Given the description of an element on the screen output the (x, y) to click on. 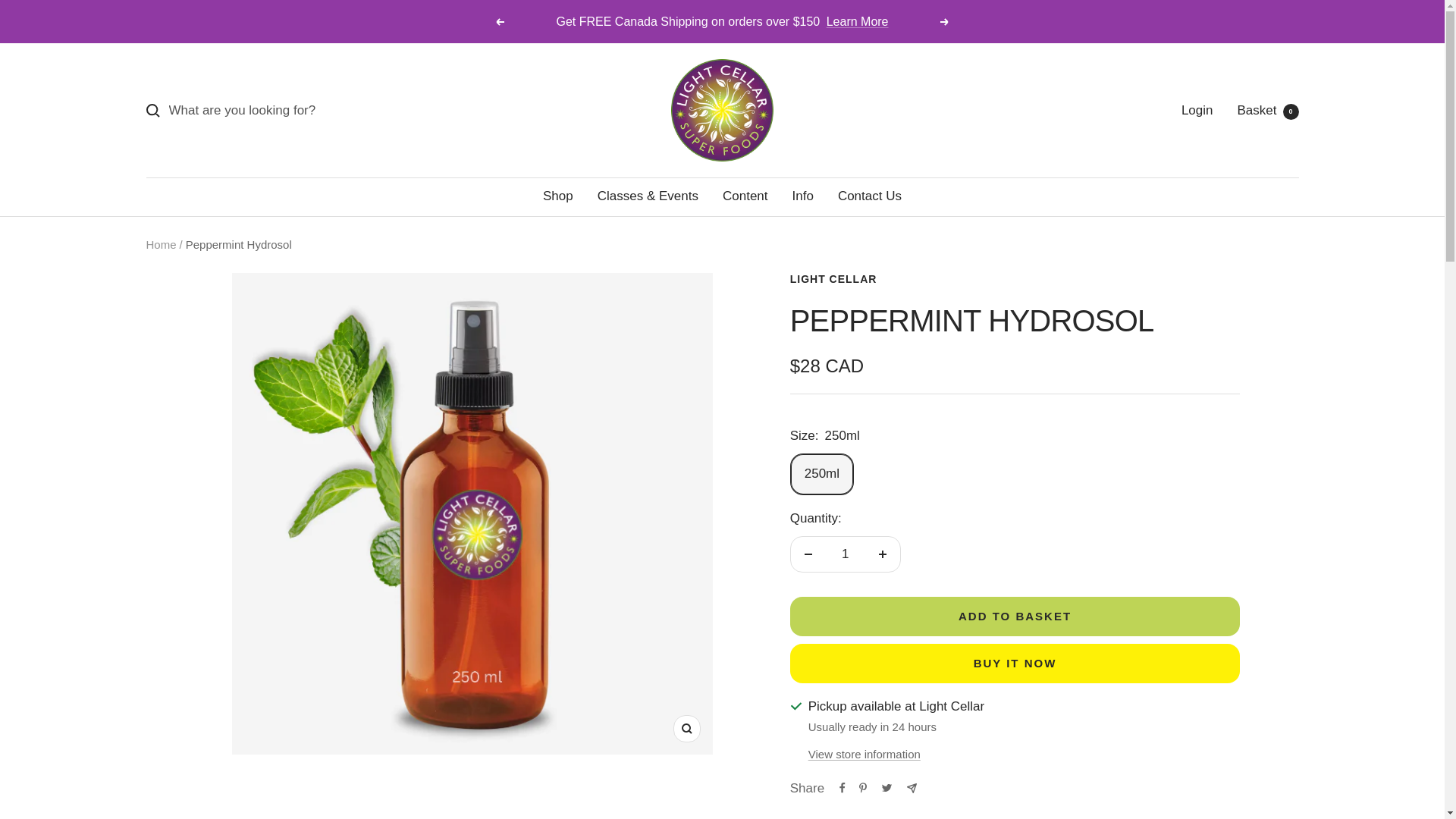
Home (160, 244)
ADD TO BASKET (1015, 616)
Learn More (857, 21)
Login (1196, 110)
1 (844, 554)
BUY IT NOW (1015, 663)
Contact Us (869, 196)
Info (802, 196)
Decrease quantity (807, 554)
View store information (864, 753)
LIGHT CELLAR (833, 278)
Content (745, 196)
Previous (499, 21)
250ml (1267, 110)
